Given the description of an element on the screen output the (x, y) to click on. 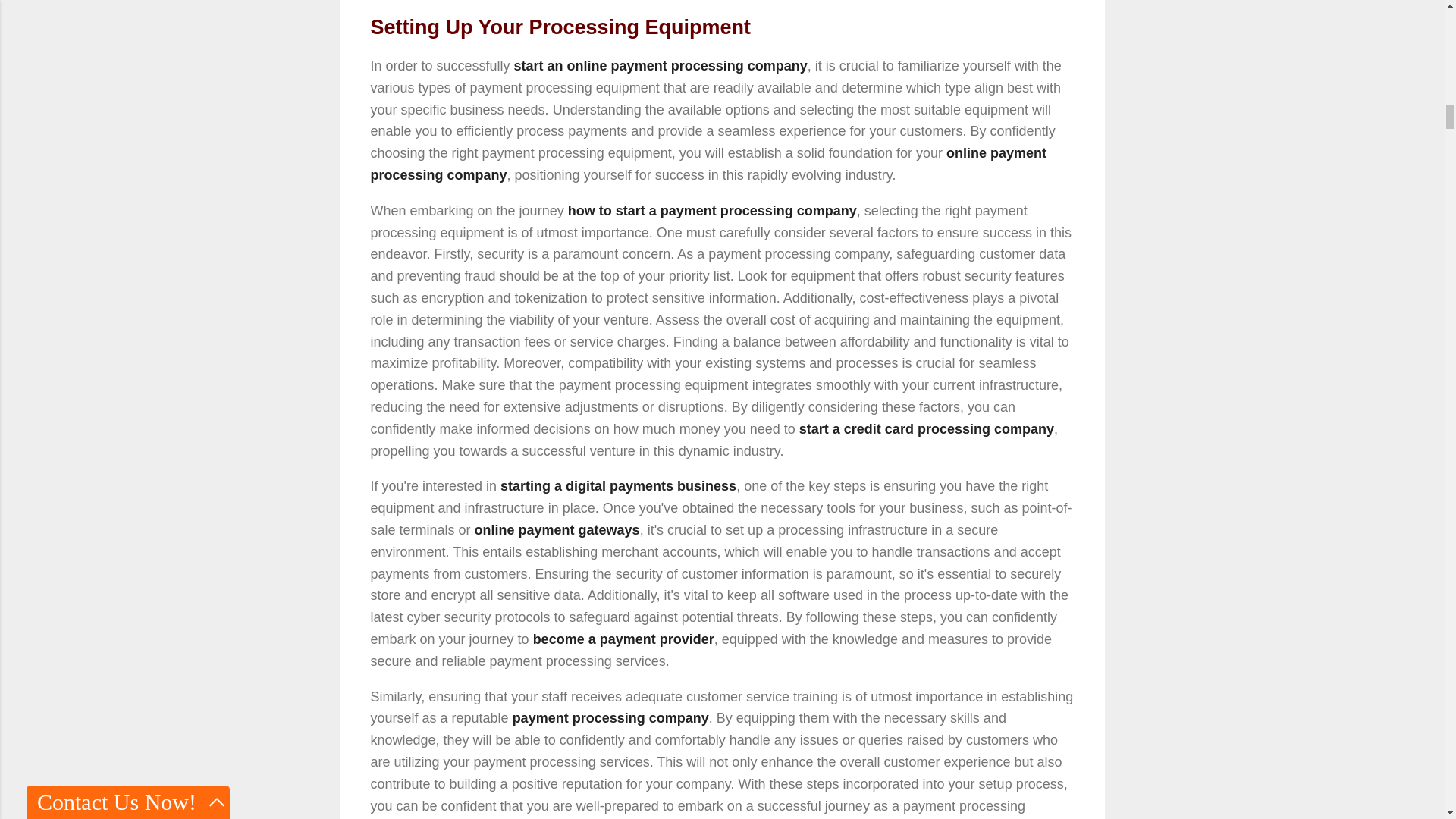
online payment processing company (707, 163)
starting a digital payments business (618, 485)
how to start a payment processing company (712, 210)
start a credit card processing company (926, 428)
start an online payment processing company (660, 65)
